Given the description of an element on the screen output the (x, y) to click on. 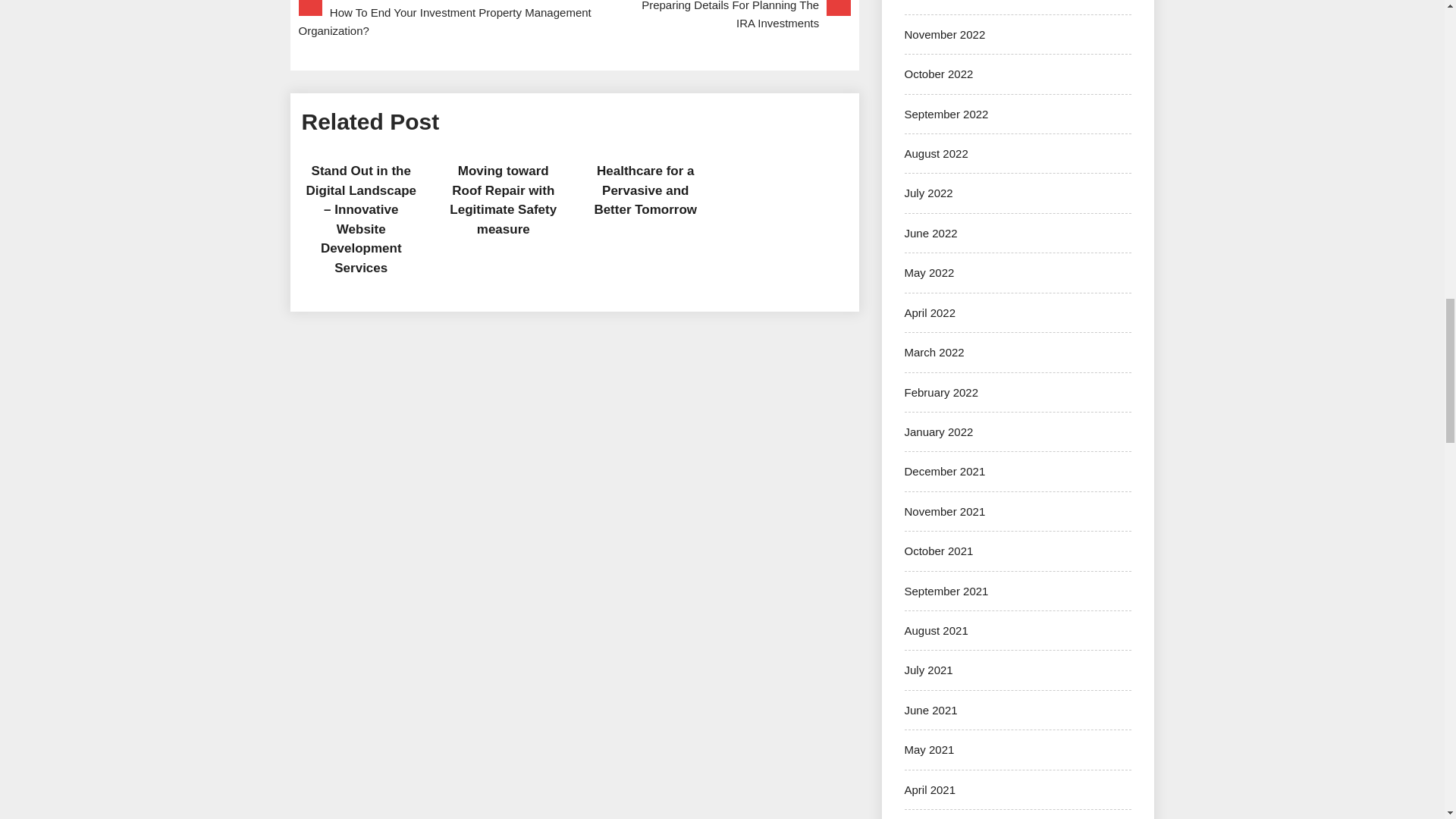
Healthcare for a Pervasive and Better Tomorrow (574, 16)
Moving toward Roof Repair with Legitimate Safety measure (645, 190)
